Given the description of an element on the screen output the (x, y) to click on. 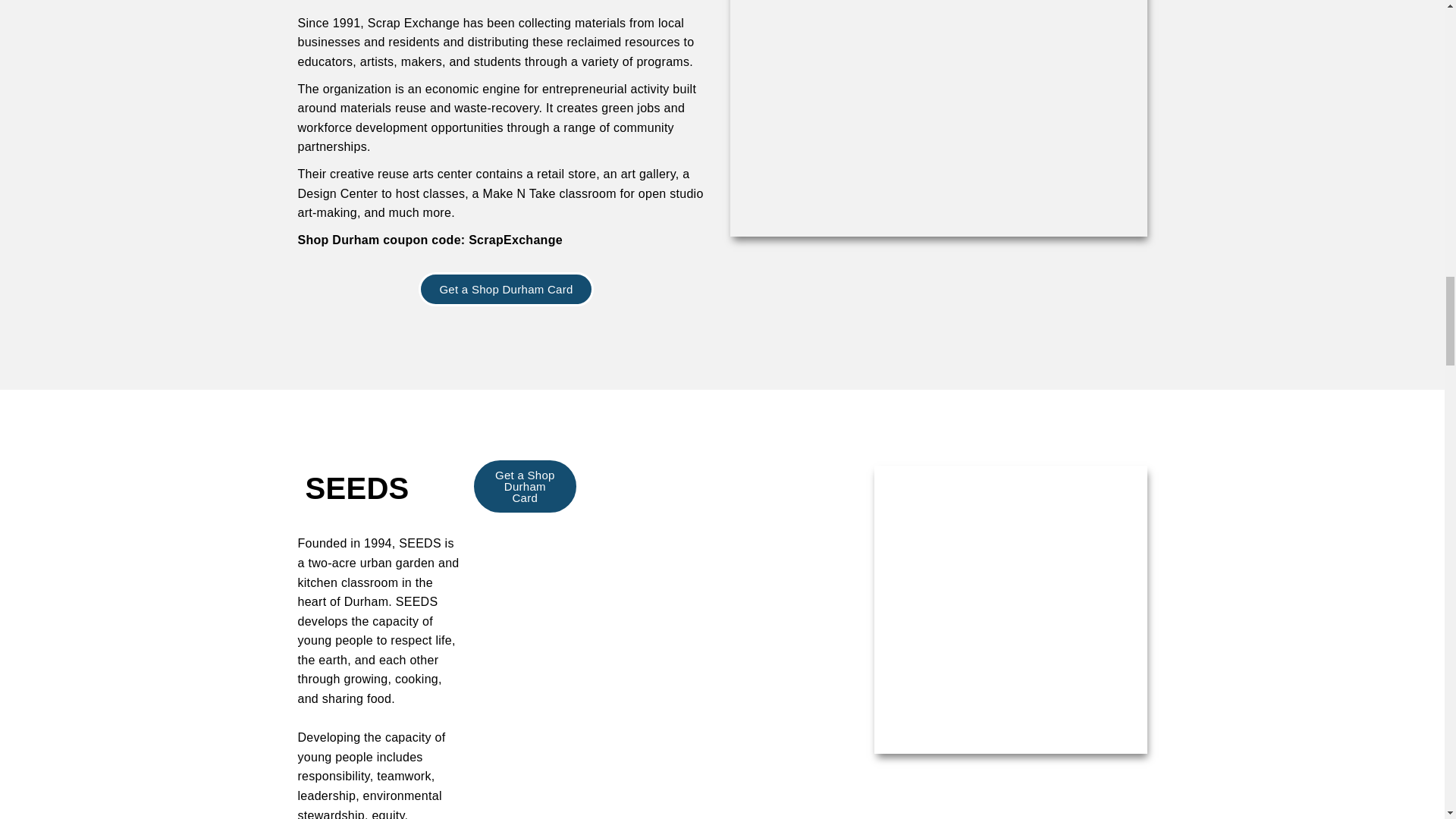
Shop Durham coupon code:  (382, 239)
Get a Shop Durham Card (524, 486)
SEEDS (356, 488)
Get a Shop Durham Card (505, 288)
